Given the description of an element on the screen output the (x, y) to click on. 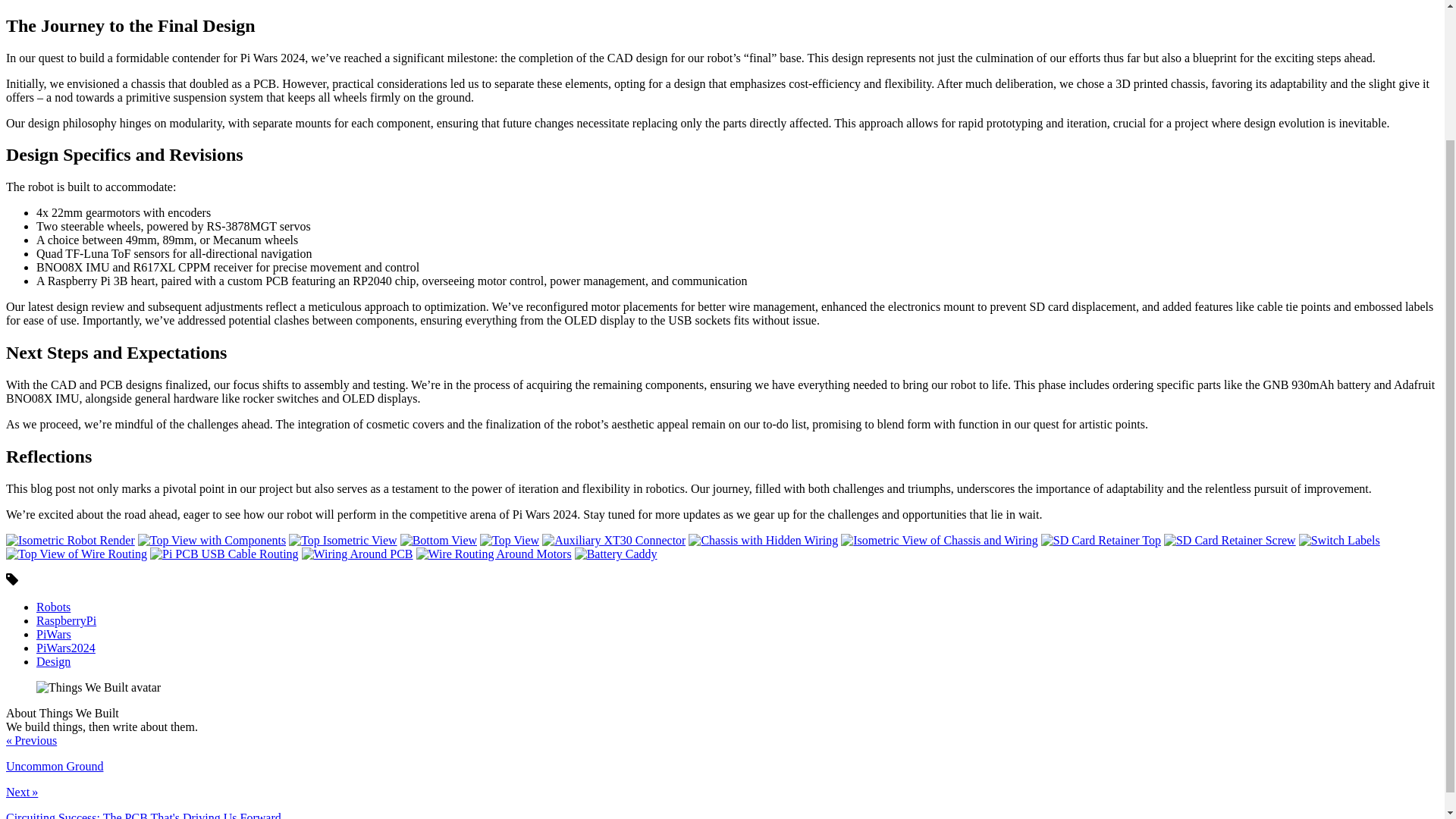
Close-up view of the auxiliary XT30 connector integration (613, 540)
PiWars (53, 634)
The Raspberry Pi PCB with USB cable routing (223, 554)
Detailed routing of wires around the robot's motors (494, 554)
Isometric view from the top of the robot (342, 540)
Internal wiring layout within the robot's chassis (763, 540)
Top down view of the robot's internal components (509, 540)
Design (52, 661)
Top view of the SD card retainer in the robot (1100, 540)
Top view showing the wire routing around the motors (76, 554)
Overview of the robot's top with all components in place (211, 540)
Design of the battery caddy holding the power source (616, 554)
Robots (52, 606)
